Given the description of an element on the screen output the (x, y) to click on. 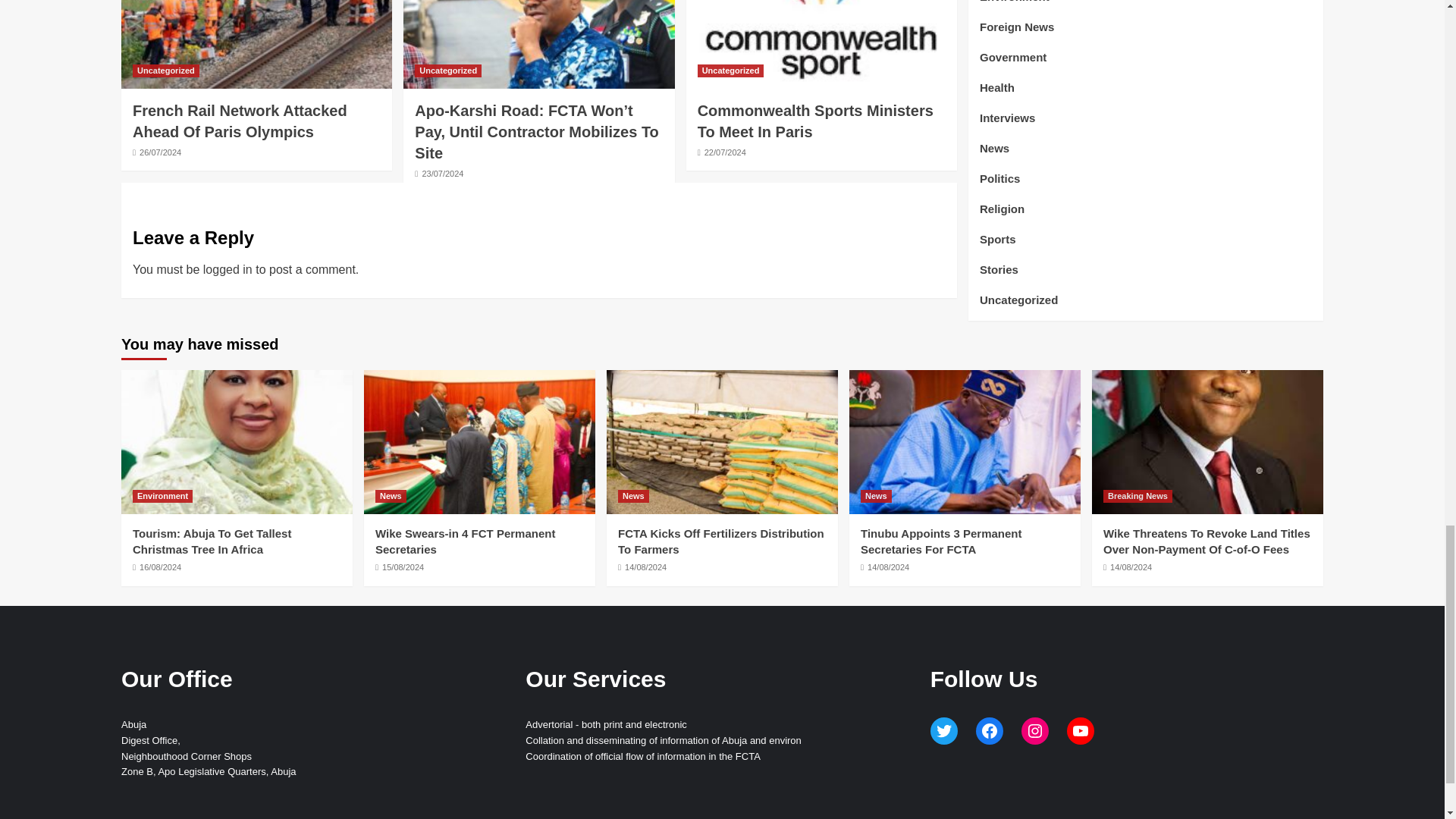
French Rail Network Attacked Ahead Of Paris Olympics (239, 121)
logged in (227, 269)
Uncategorized (165, 70)
Uncategorized (730, 70)
Uncategorized (447, 70)
Commonwealth Sports Ministers To Meet In Paris (815, 121)
